Given the description of an element on the screen output the (x, y) to click on. 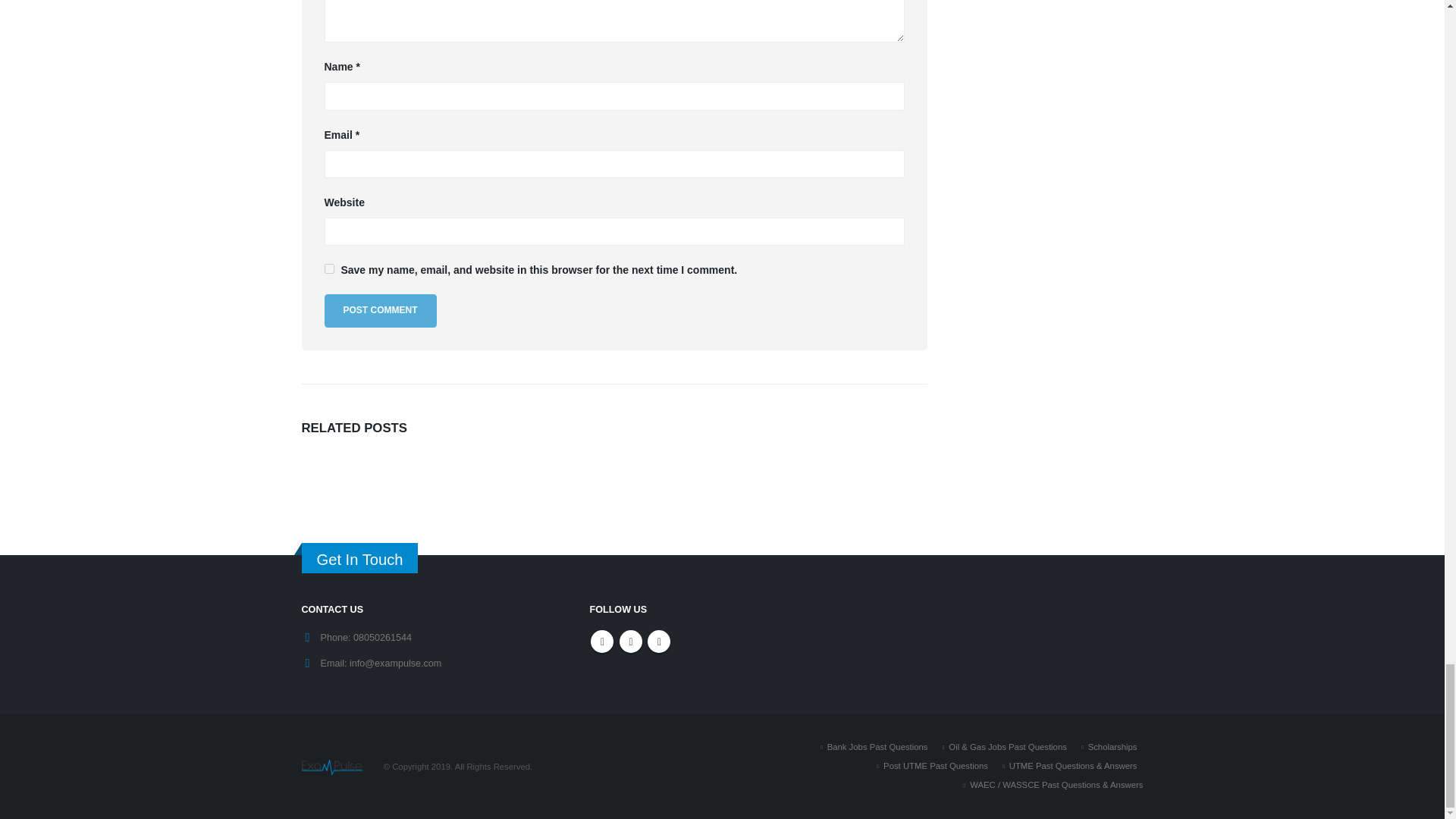
Post Comment (380, 310)
yes (329, 268)
